Given the description of an element on the screen output the (x, y) to click on. 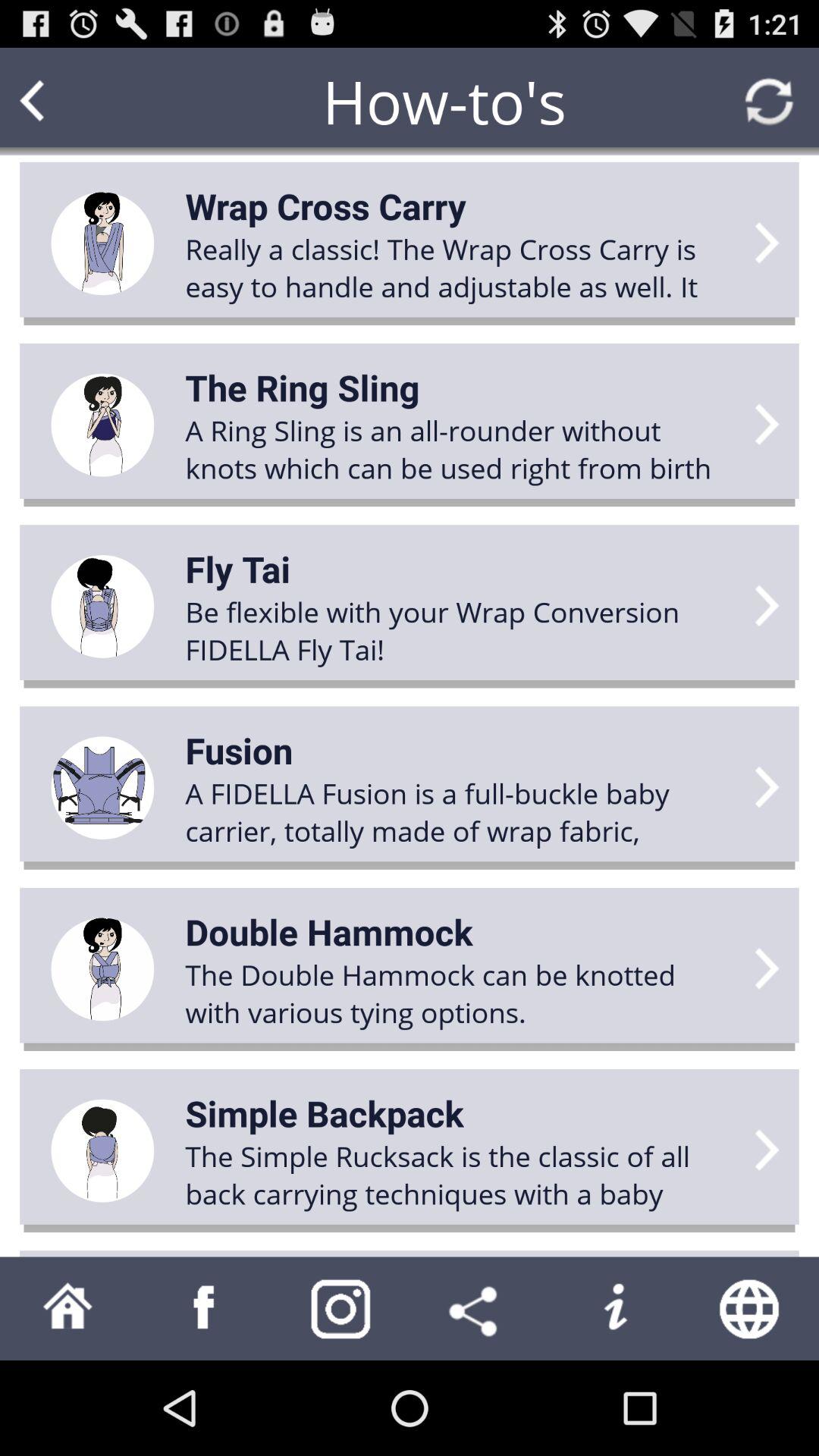
turn off app below simple backpack icon (460, 1174)
